Given the description of an element on the screen output the (x, y) to click on. 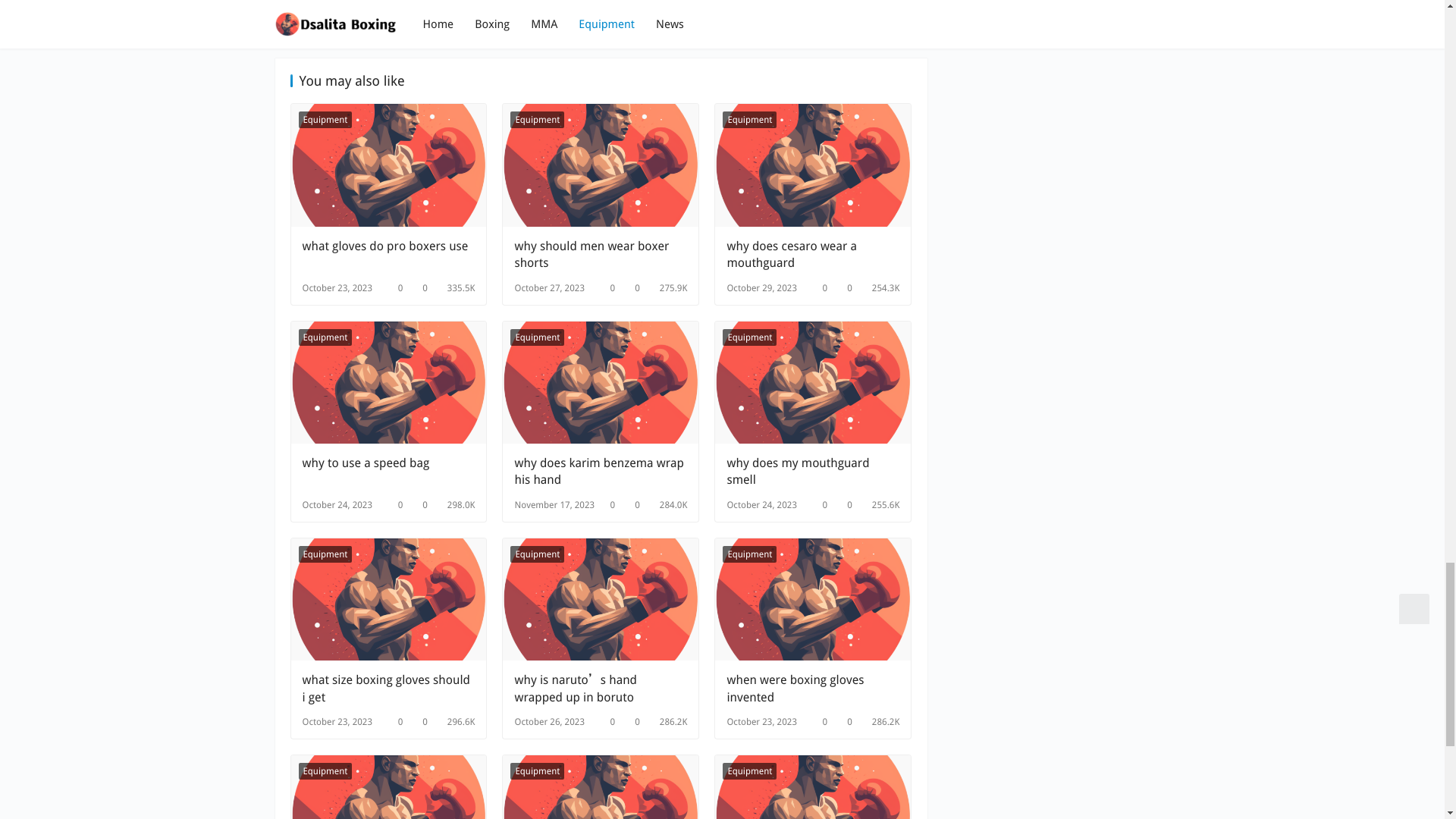
why does my mouthguard smell (812, 382)
why to use a speed bag (387, 471)
who won the boxing match last night in manchester (434, 21)
why does my mouthguard smell (812, 471)
what gloves do pro boxers use (387, 254)
Equipment (325, 554)
Equipment (749, 119)
why should men wear boxer shorts (600, 165)
what gloves do pro boxers use (387, 254)
why should men wear boxer shorts (600, 254)
why does my mouthguard smell (812, 471)
why does cesaro wear a mouthguard (812, 254)
Equipment (325, 119)
Equipment (537, 337)
Equipment (537, 119)
